Given the description of an element on the screen output the (x, y) to click on. 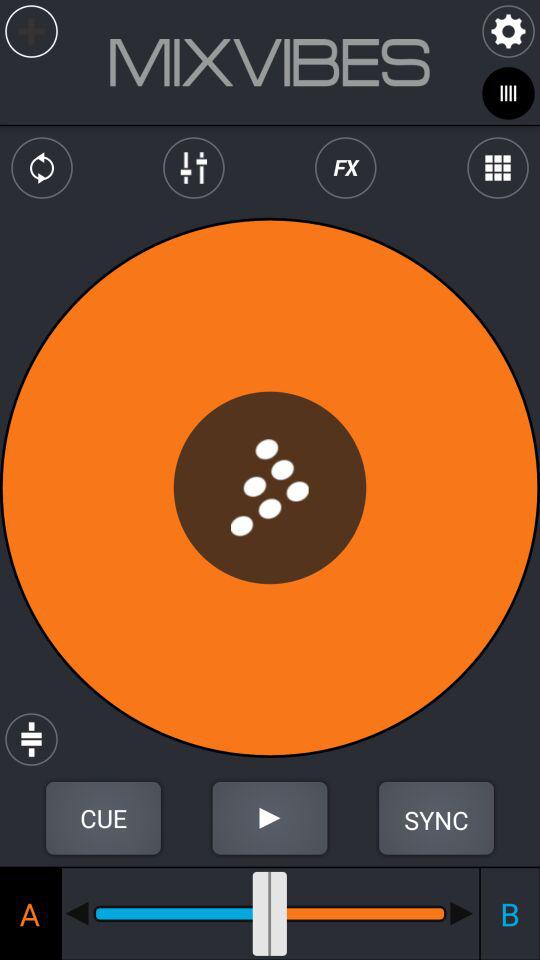
open icon above the b icon (436, 818)
